Given the description of an element on the screen output the (x, y) to click on. 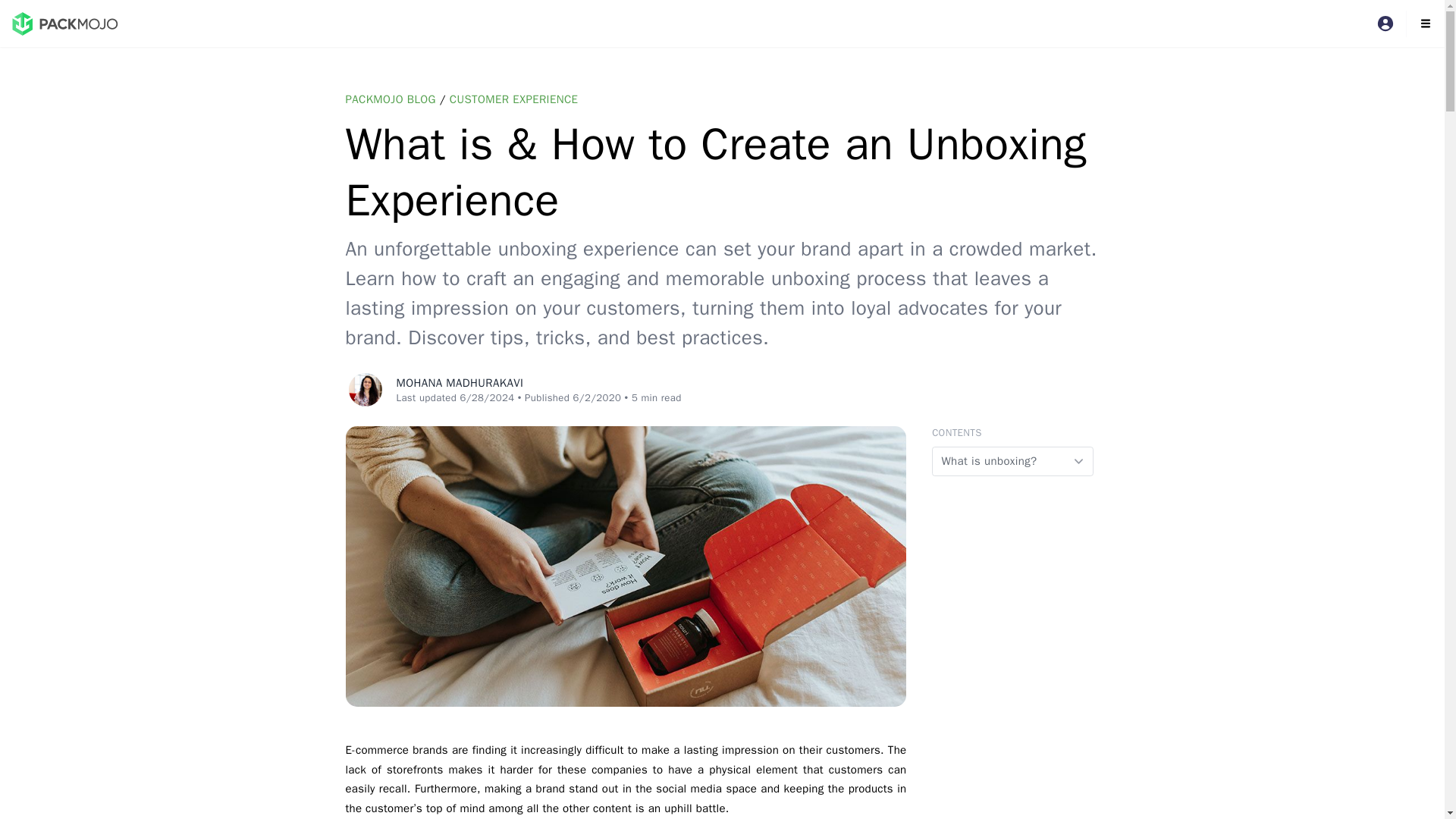
CUSTOMER EXPERIENCE (513, 99)
PACKMOJO BLOG (390, 99)
MOHANA MADHURAKAVI (459, 382)
